Given the description of an element on the screen output the (x, y) to click on. 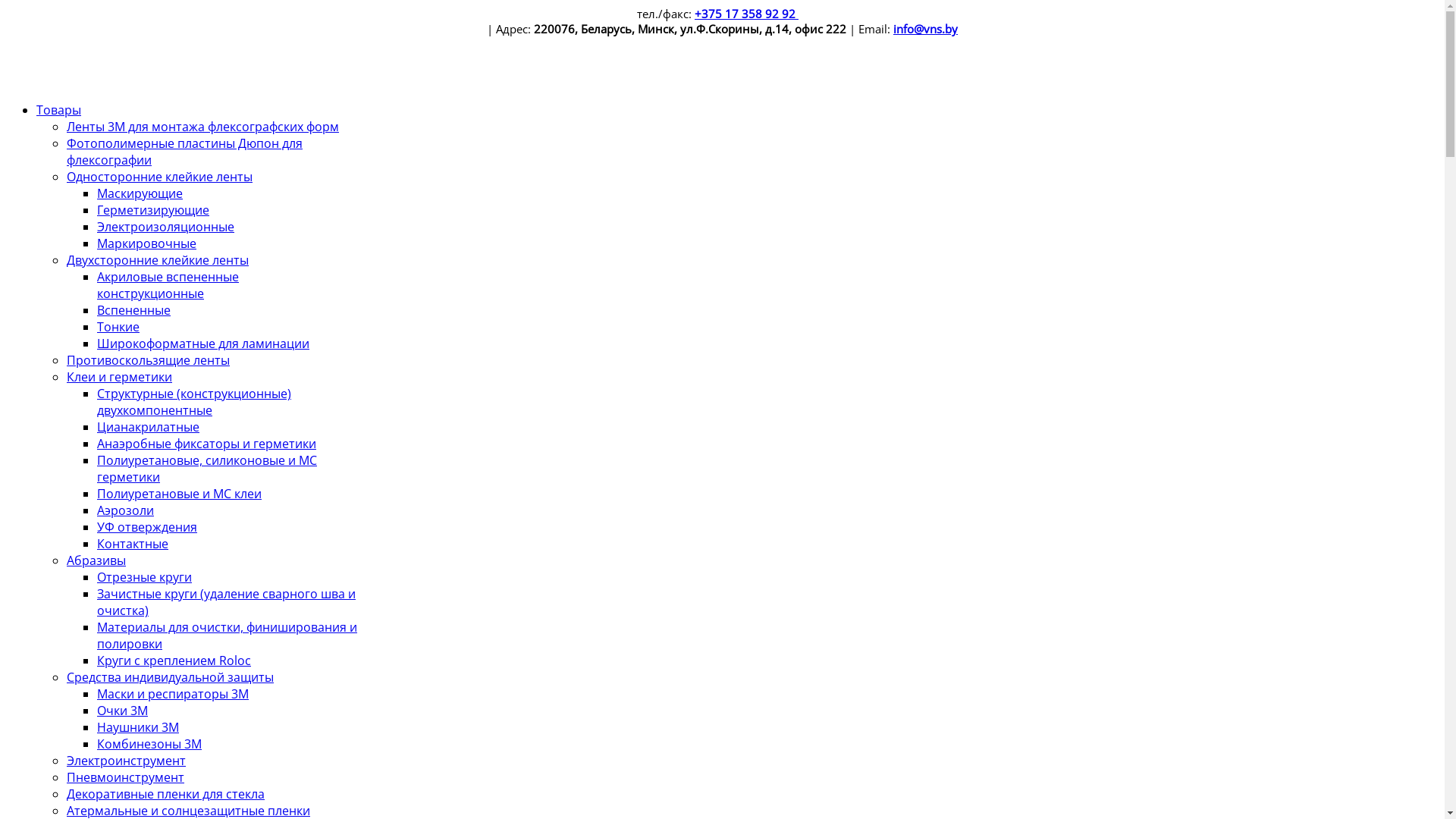
+375 17 358 92 92 Element type: text (746, 13)
info@vns.by Element type: text (925, 28)
